Given the description of an element on the screen output the (x, y) to click on. 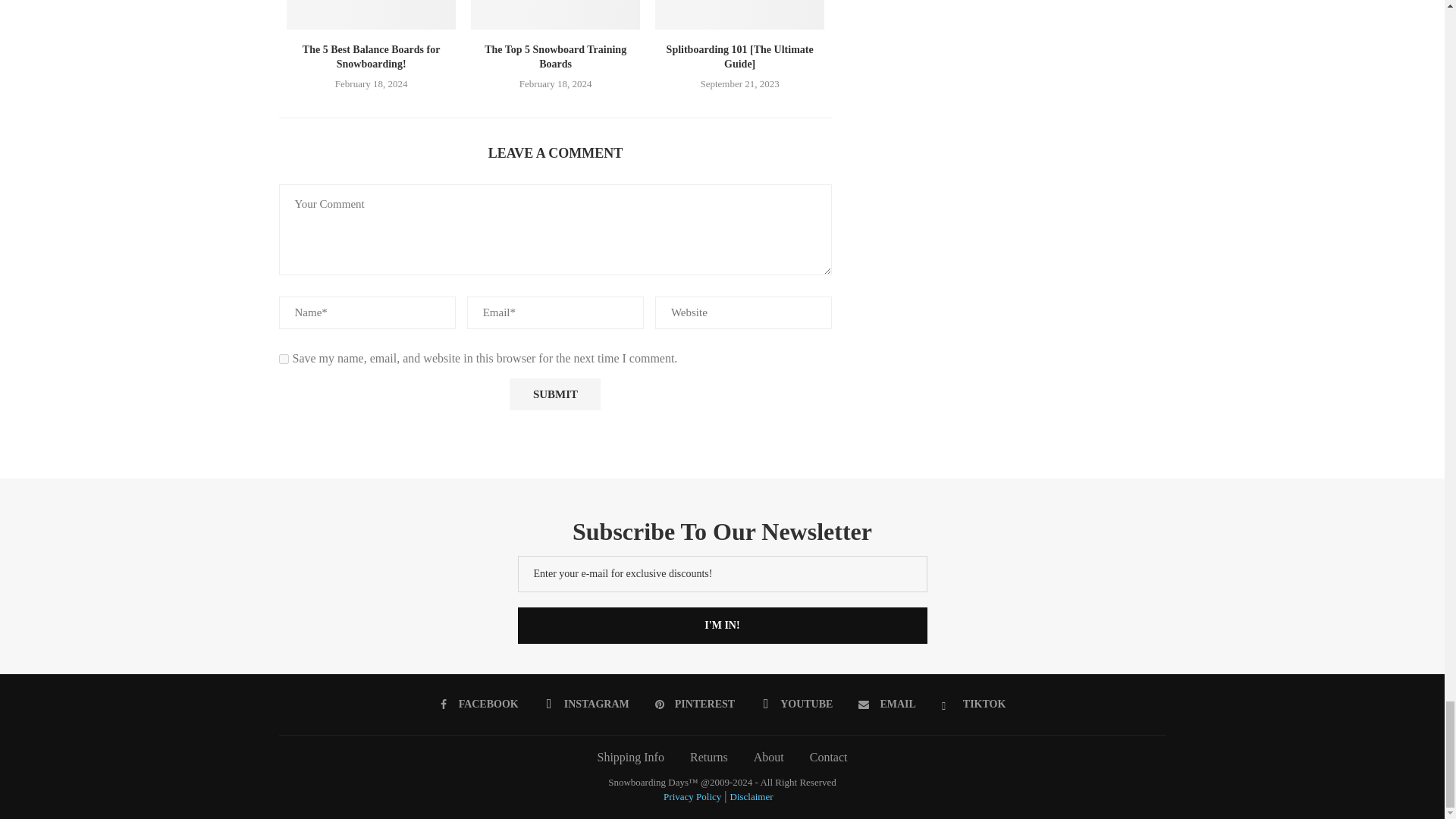
yes (283, 358)
I'm In! (721, 625)
Submit (554, 394)
